Given the description of an element on the screen output the (x, y) to click on. 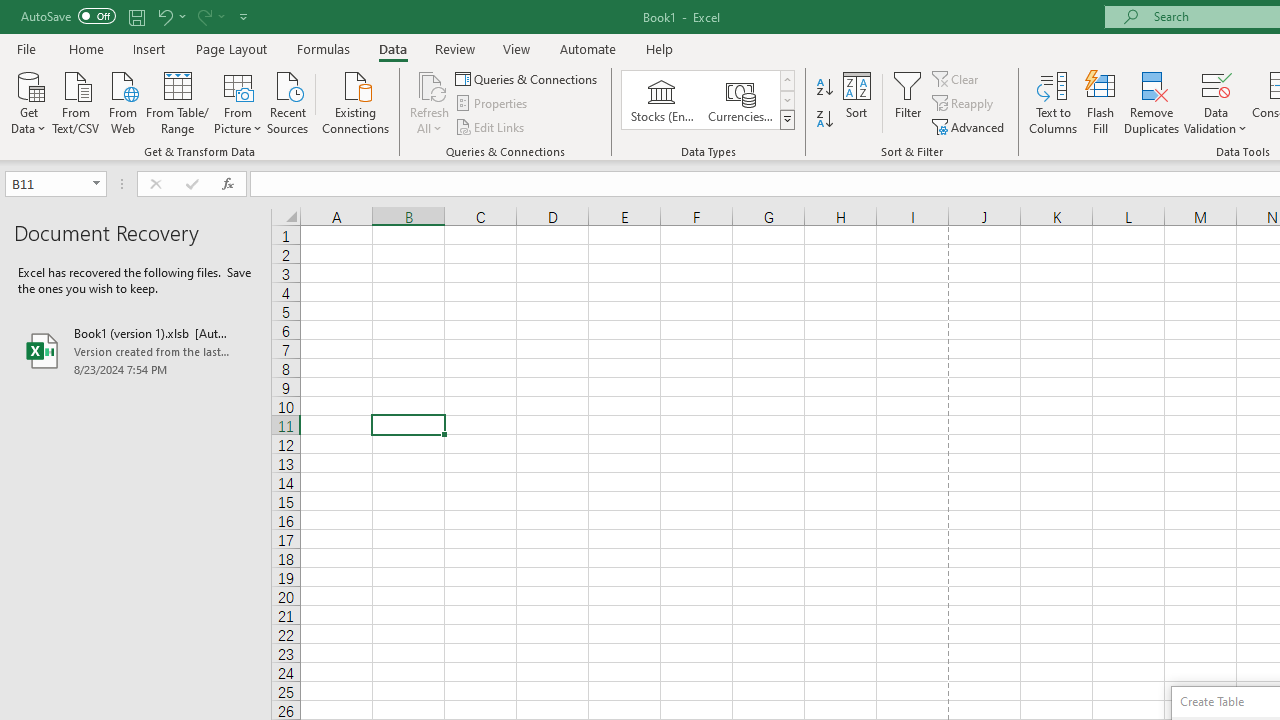
Automate (588, 48)
Existing Connections (355, 101)
Advanced... (970, 126)
Flash Fill (1101, 102)
Book1 (version 1).xlsb  [AutoRecovered] (136, 350)
Reapply (964, 103)
Class: NetUIImage (787, 119)
Data Types (786, 120)
From Table/Range (177, 101)
